Given the description of an element on the screen output the (x, y) to click on. 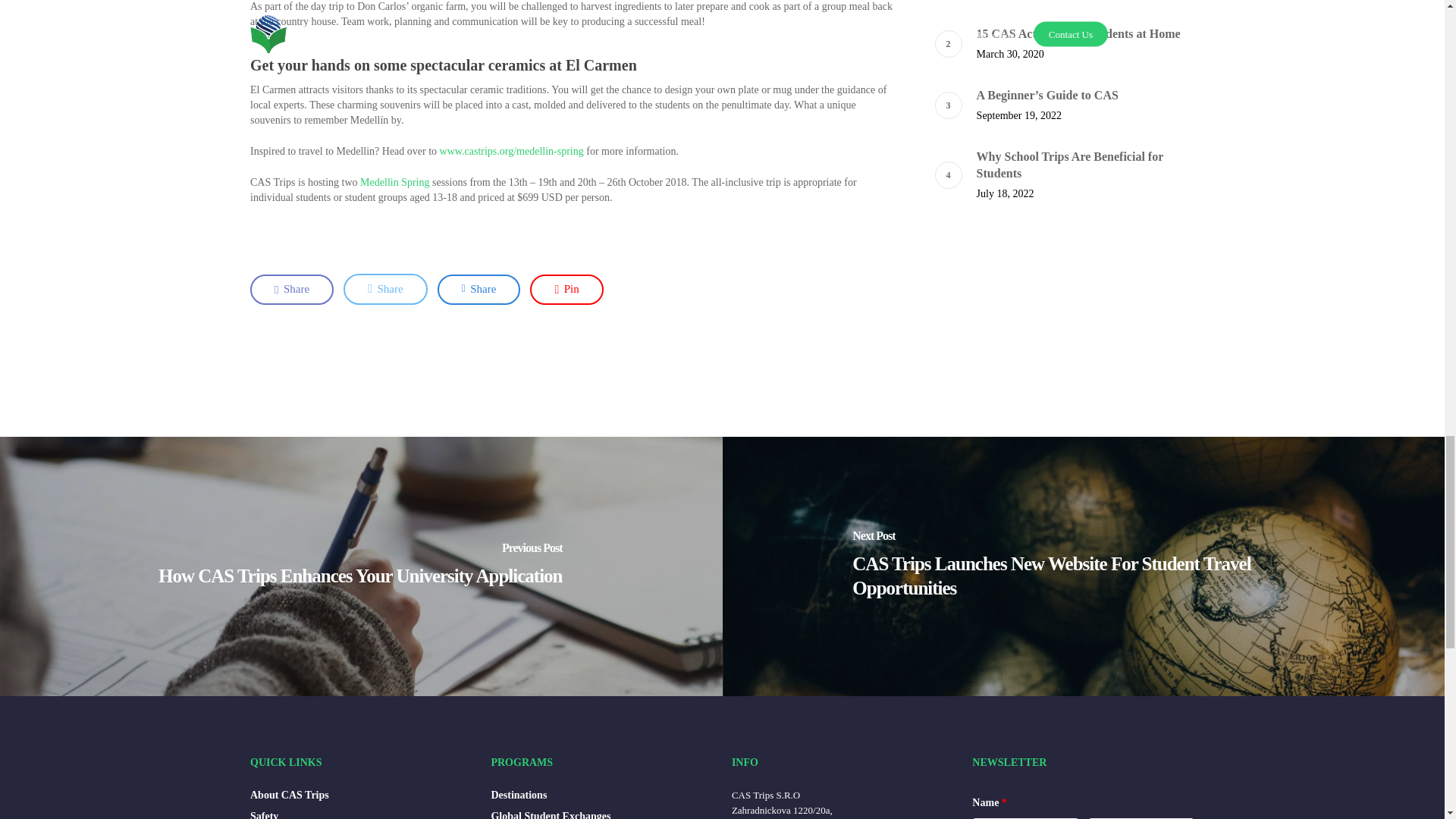
Share (385, 288)
Medellin Spring (394, 182)
Share this (479, 289)
Share this (291, 289)
Share (479, 289)
Share this (385, 288)
Pin this (565, 289)
Share (291, 289)
